Given the description of an element on the screen output the (x, y) to click on. 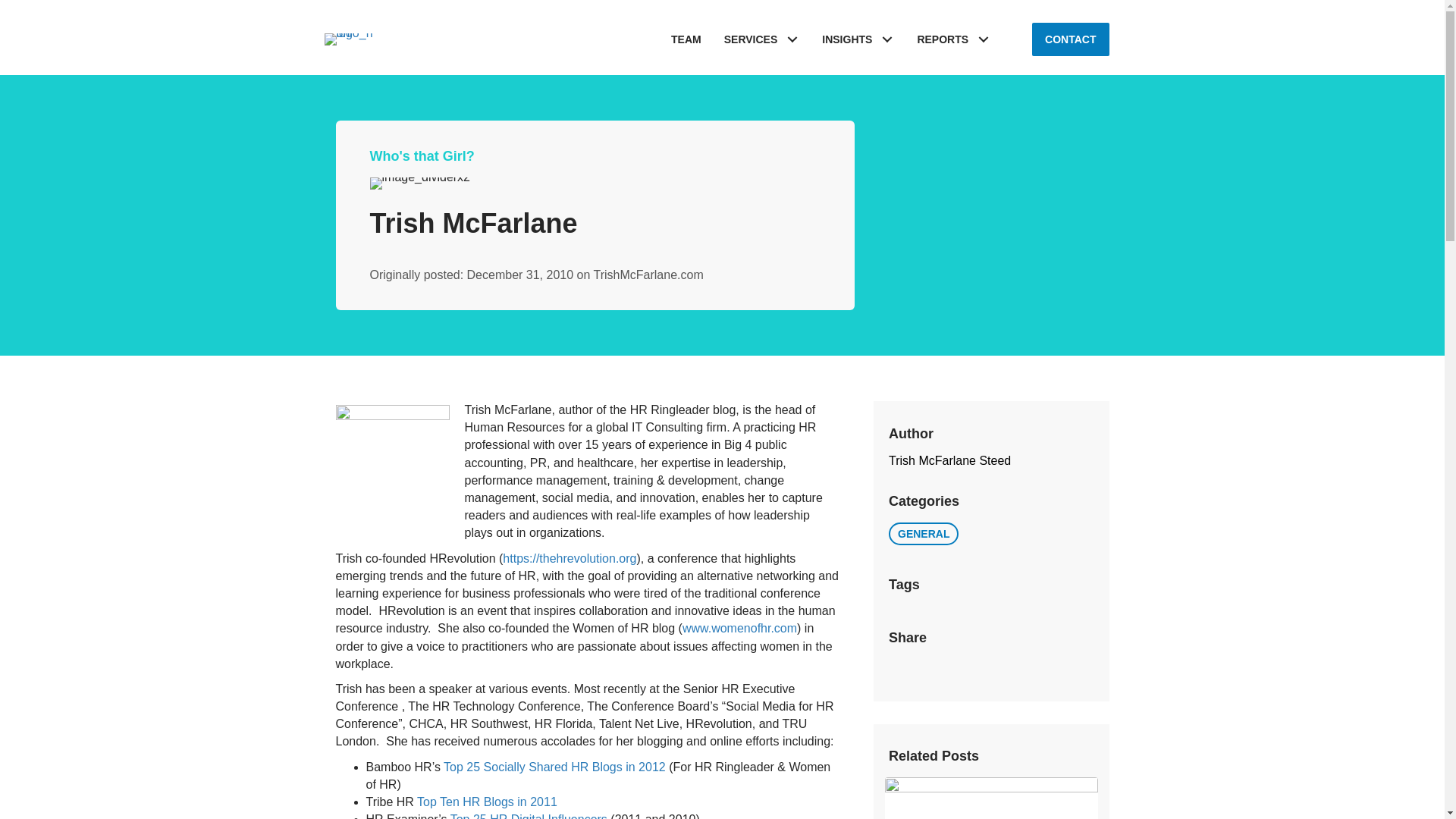
INSIGHTS (857, 39)
SERVICES (761, 39)
TEAM (686, 39)
CONTACT (1070, 39)
REPORTS (953, 39)
Trish McFarlane BW (391, 461)
